Given the description of an element on the screen output the (x, y) to click on. 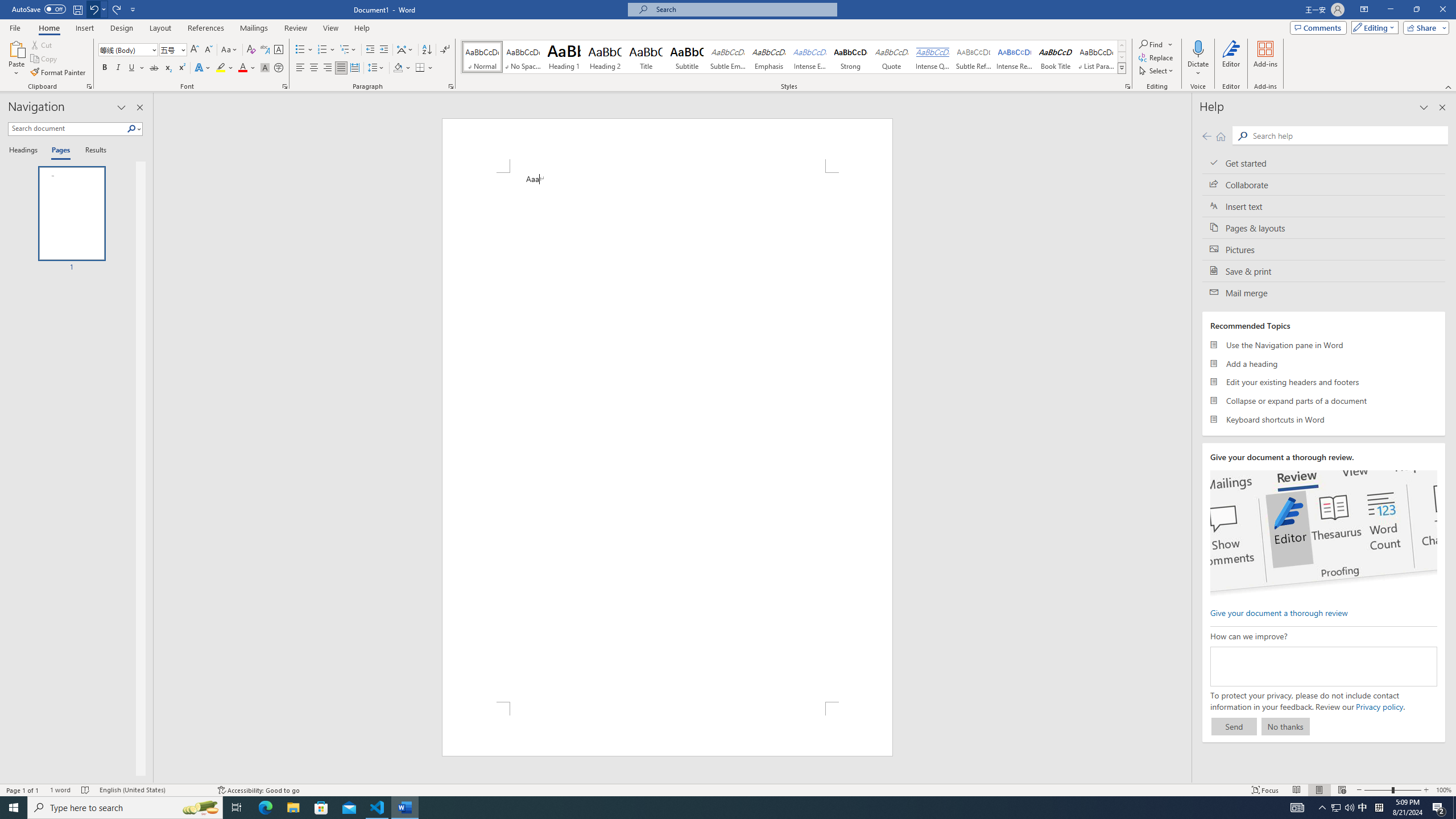
Copy (45, 58)
Save (77, 9)
Font Size (172, 49)
Collapse or expand parts of a document (1323, 400)
Keyboard shortcuts in Word (1323, 419)
Share (1423, 27)
Intense Quote (932, 56)
Previous page (1206, 136)
Subscript (167, 67)
Zoom 100% (1443, 790)
Cut (42, 44)
editor ui screenshot (1323, 533)
